Given the description of an element on the screen output the (x, y) to click on. 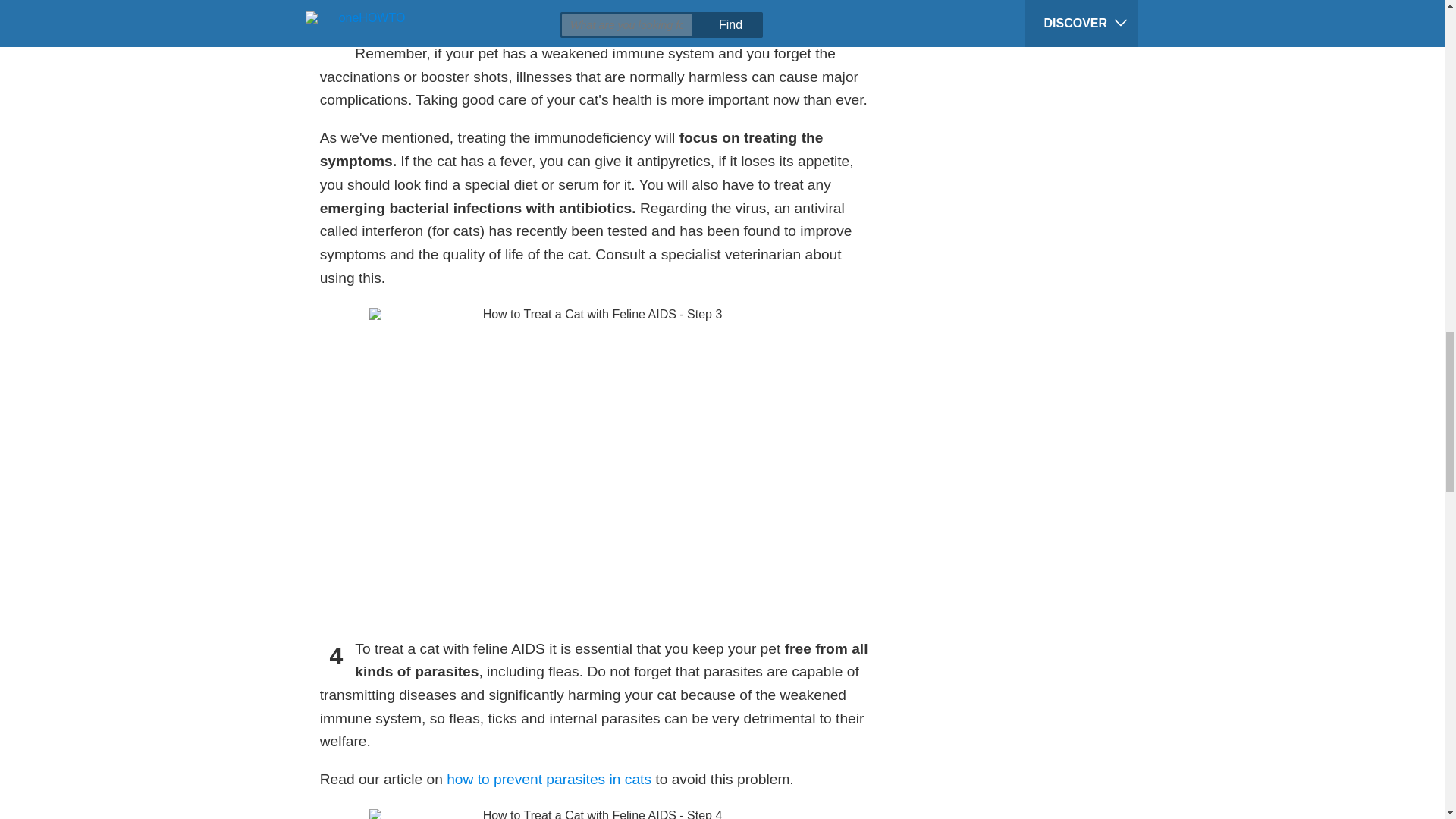
how to prevent parasites in cats (548, 779)
